Given the description of an element on the screen output the (x, y) to click on. 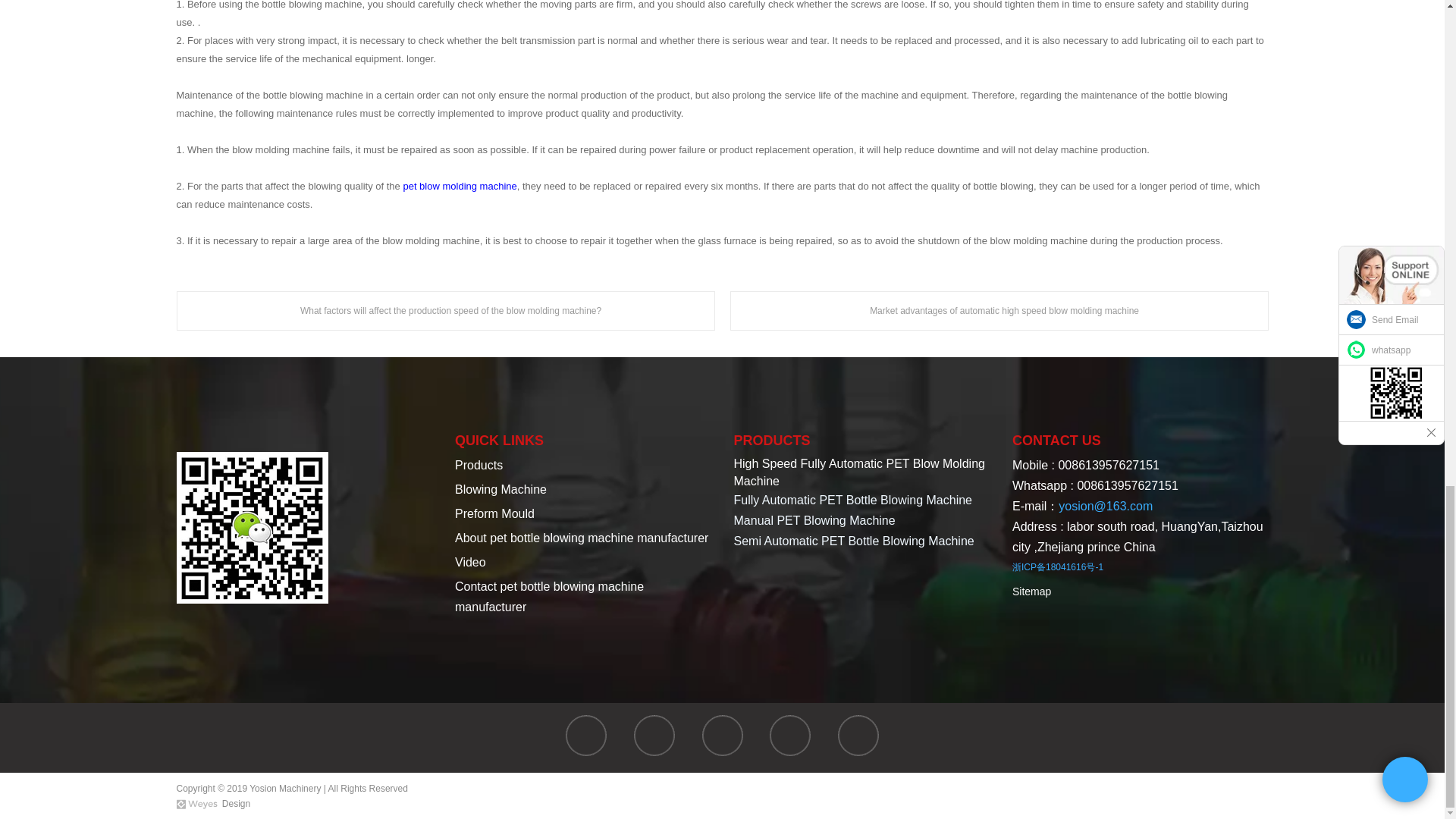
Contact pet bottle blowing machine manufacturer (548, 596)
About pet bottle blowing machine manufacturer (580, 537)
Blowing Machine (500, 489)
Video (470, 562)
pet blow molding machine (459, 185)
Preform Mould (494, 513)
Products (478, 464)
